Given the description of an element on the screen output the (x, y) to click on. 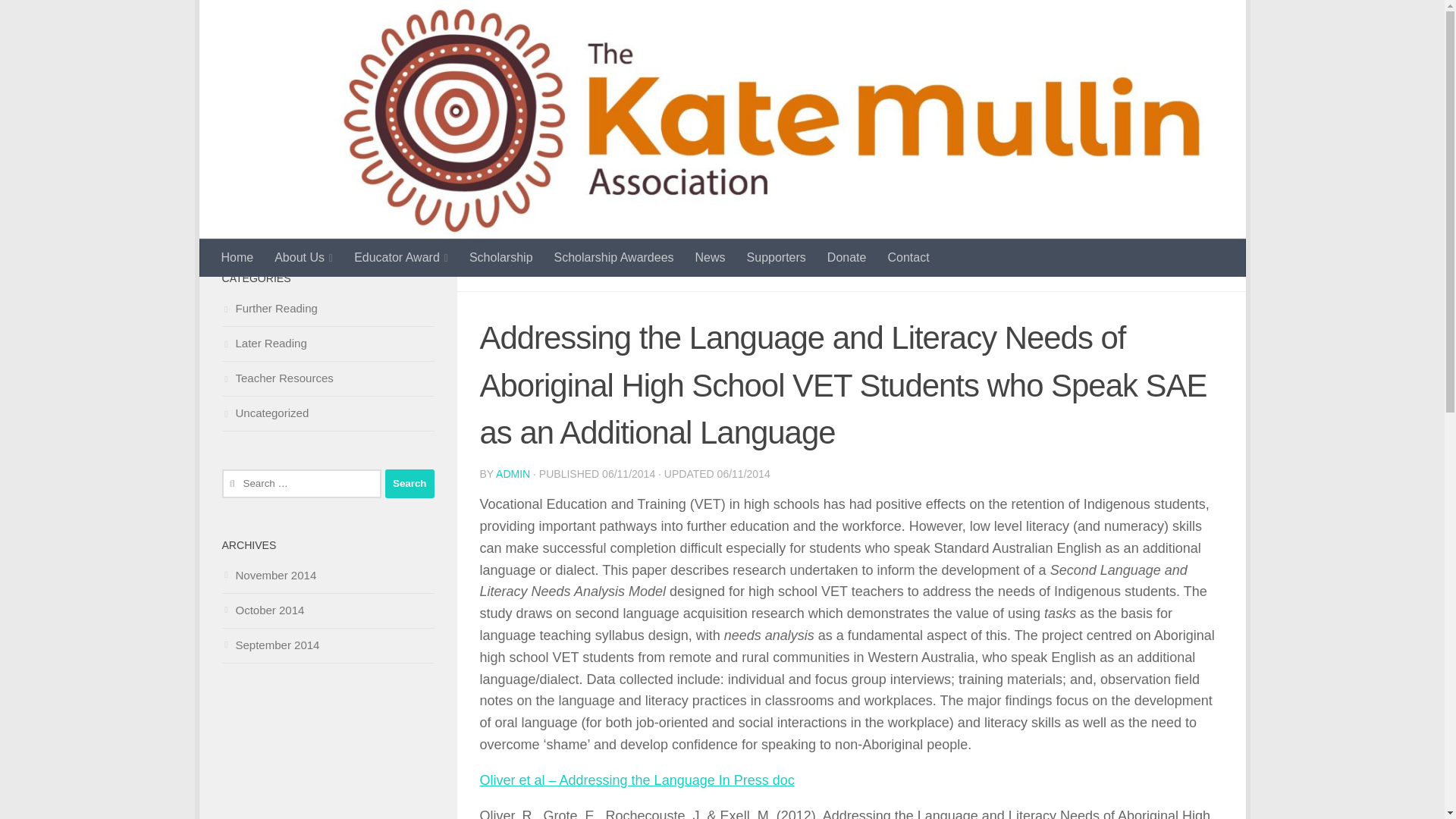
Home (237, 257)
Skip to content (263, 20)
Scholarship Awardees (613, 257)
Posts by admin (512, 473)
2 (1210, 268)
News (710, 257)
ADMIN (512, 473)
Educator Award (400, 257)
Scholarship (500, 257)
Search (409, 483)
FURTHER READING (537, 268)
Supporters (776, 257)
Donate (846, 257)
About Us (303, 257)
Search (409, 483)
